Given the description of an element on the screen output the (x, y) to click on. 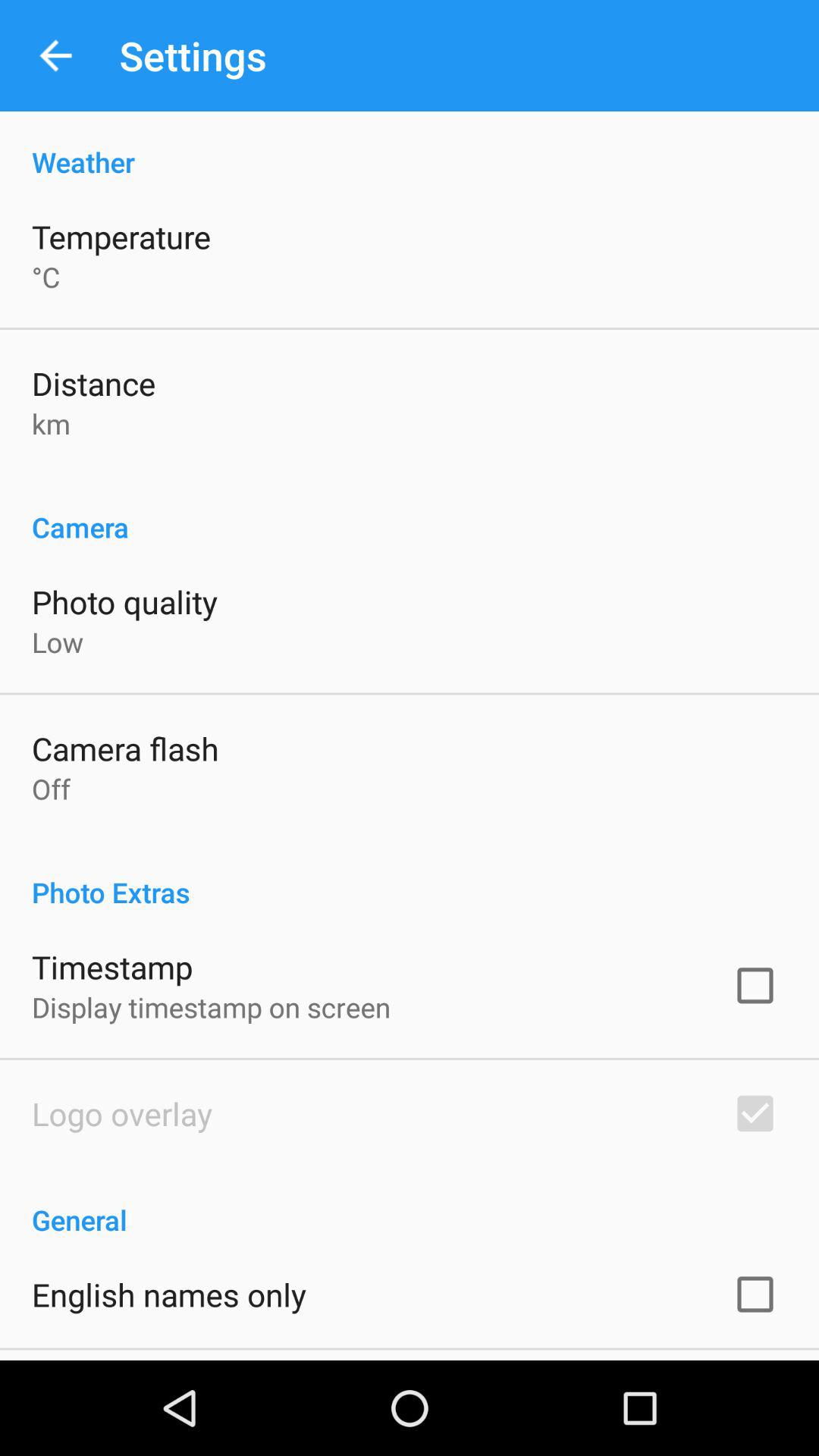
turn on the item above the weather icon (55, 55)
